Given the description of an element on the screen output the (x, y) to click on. 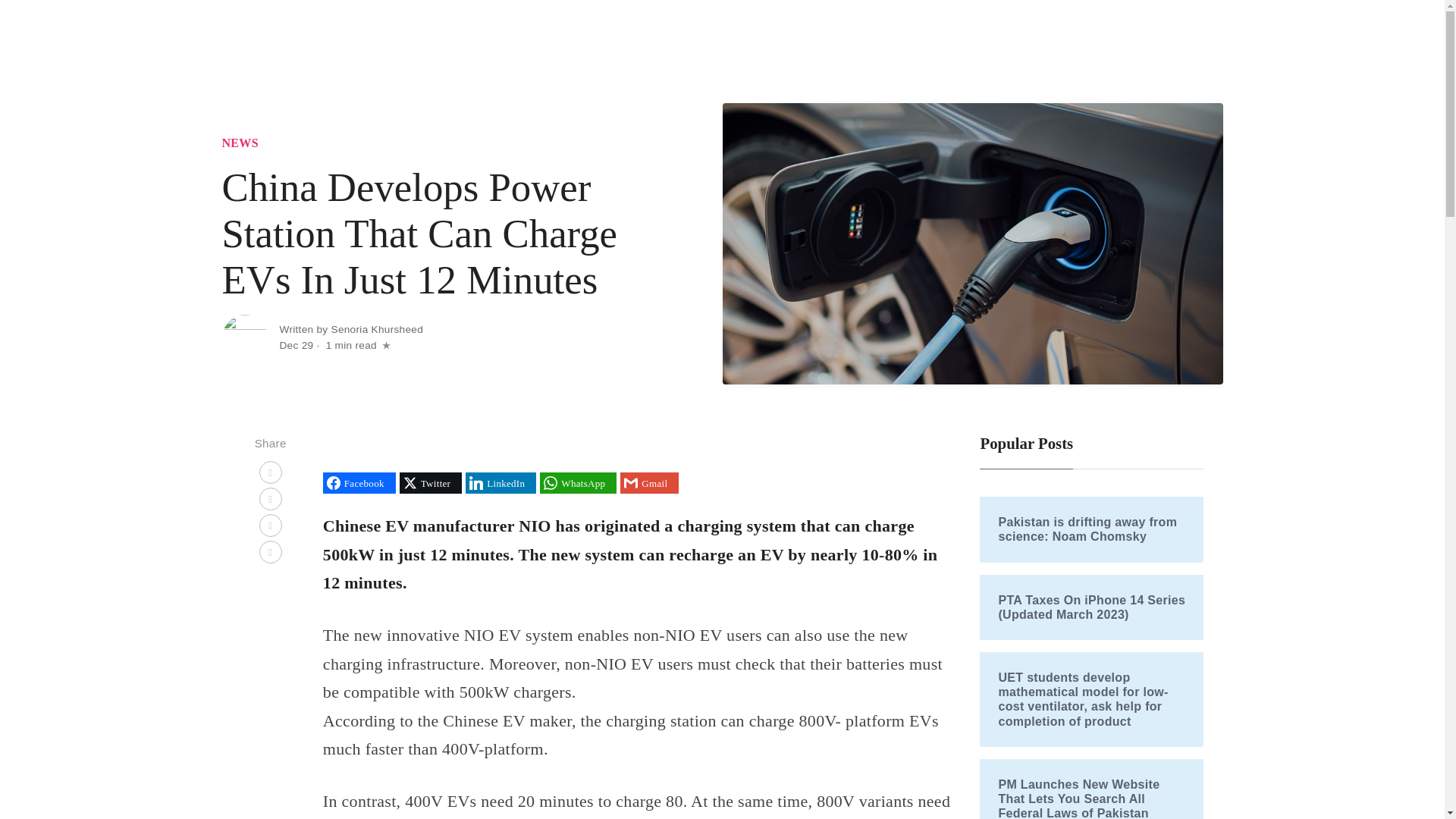
Twitter (429, 482)
Share on WhatsApp (577, 482)
Mobile (972, 49)
Online Earning (1116, 49)
Share on Gmail (649, 482)
LinkedIn (500, 482)
Startups (914, 49)
Share on LinkedIn (500, 482)
NEWS (239, 142)
Investment (1037, 49)
Facebook (359, 482)
Technology (849, 49)
Share on Twitter (429, 482)
Share on Facebook (359, 482)
Written by Senoria Khursheed (351, 328)
